Given the description of an element on the screen output the (x, y) to click on. 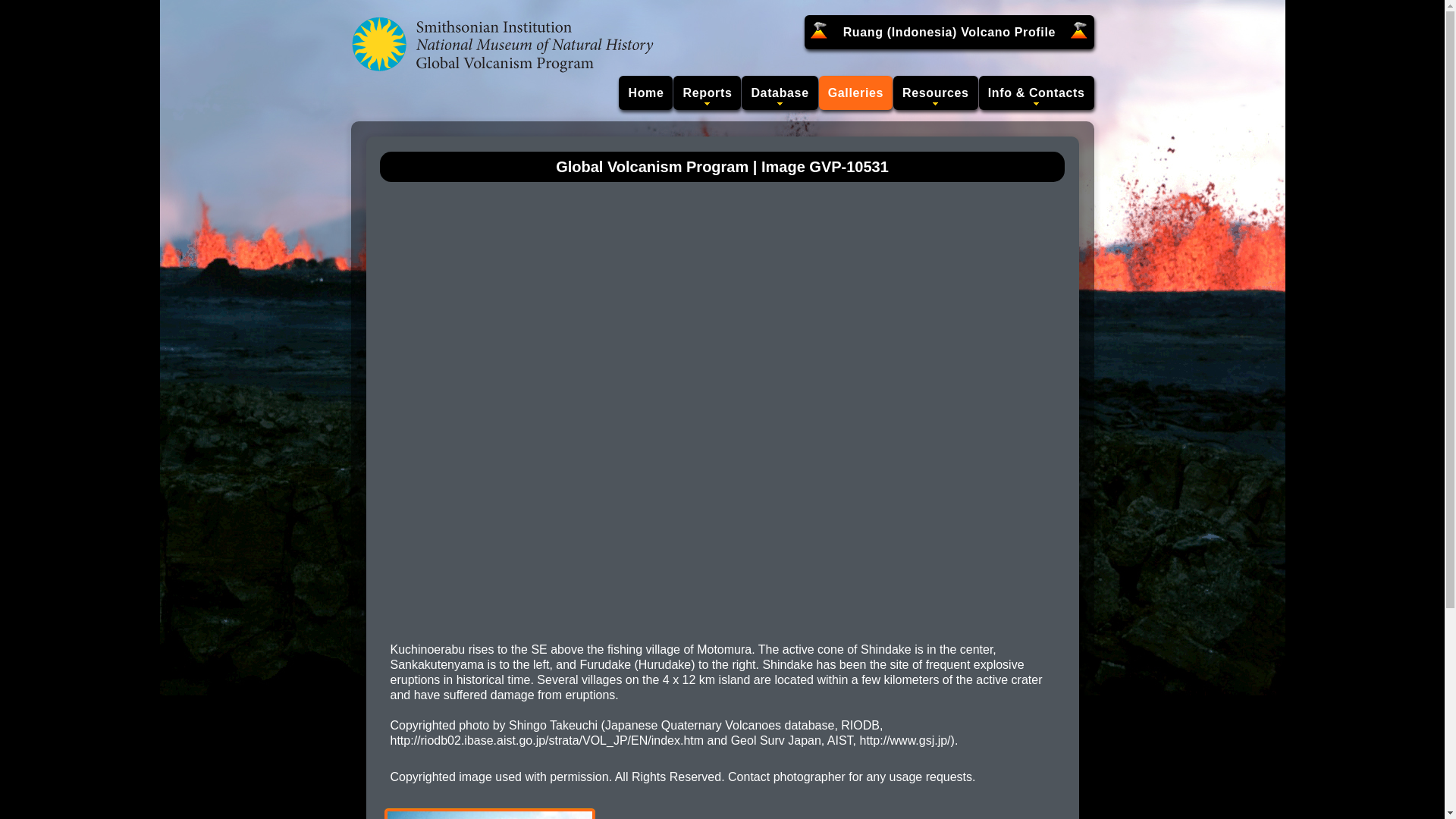
Database (778, 92)
Kuchinoerabujima (489, 815)
Resources (935, 92)
Galleries (855, 92)
Home (645, 92)
Reports (706, 92)
